Given the description of an element on the screen output the (x, y) to click on. 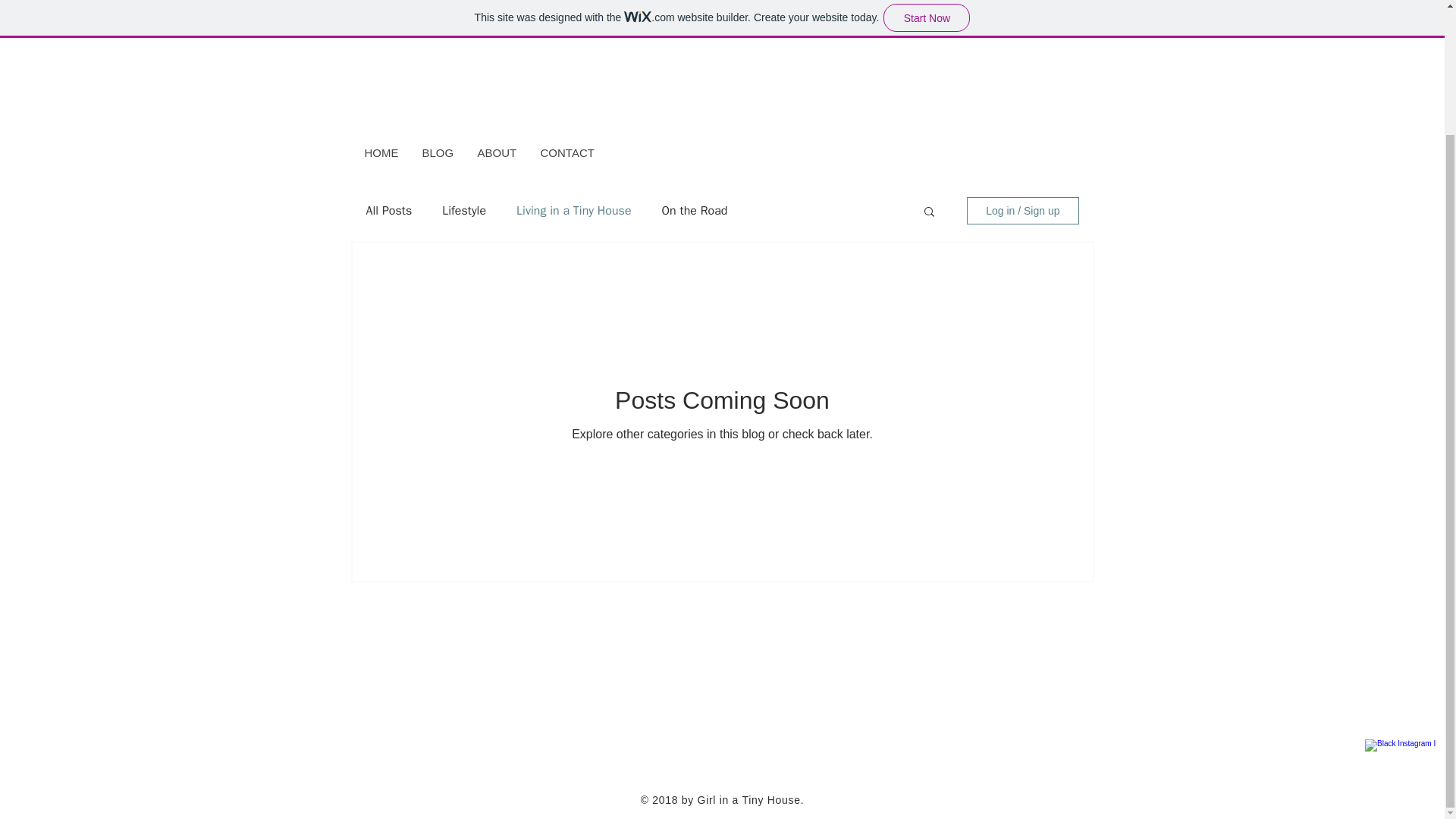
All Posts (388, 210)
Living in a Tiny House (573, 210)
ABOUT (496, 152)
HOME (381, 152)
Lifestyle (464, 210)
CONTACT (566, 152)
BLOG (436, 152)
On the Road (695, 210)
